Given the description of an element on the screen output the (x, y) to click on. 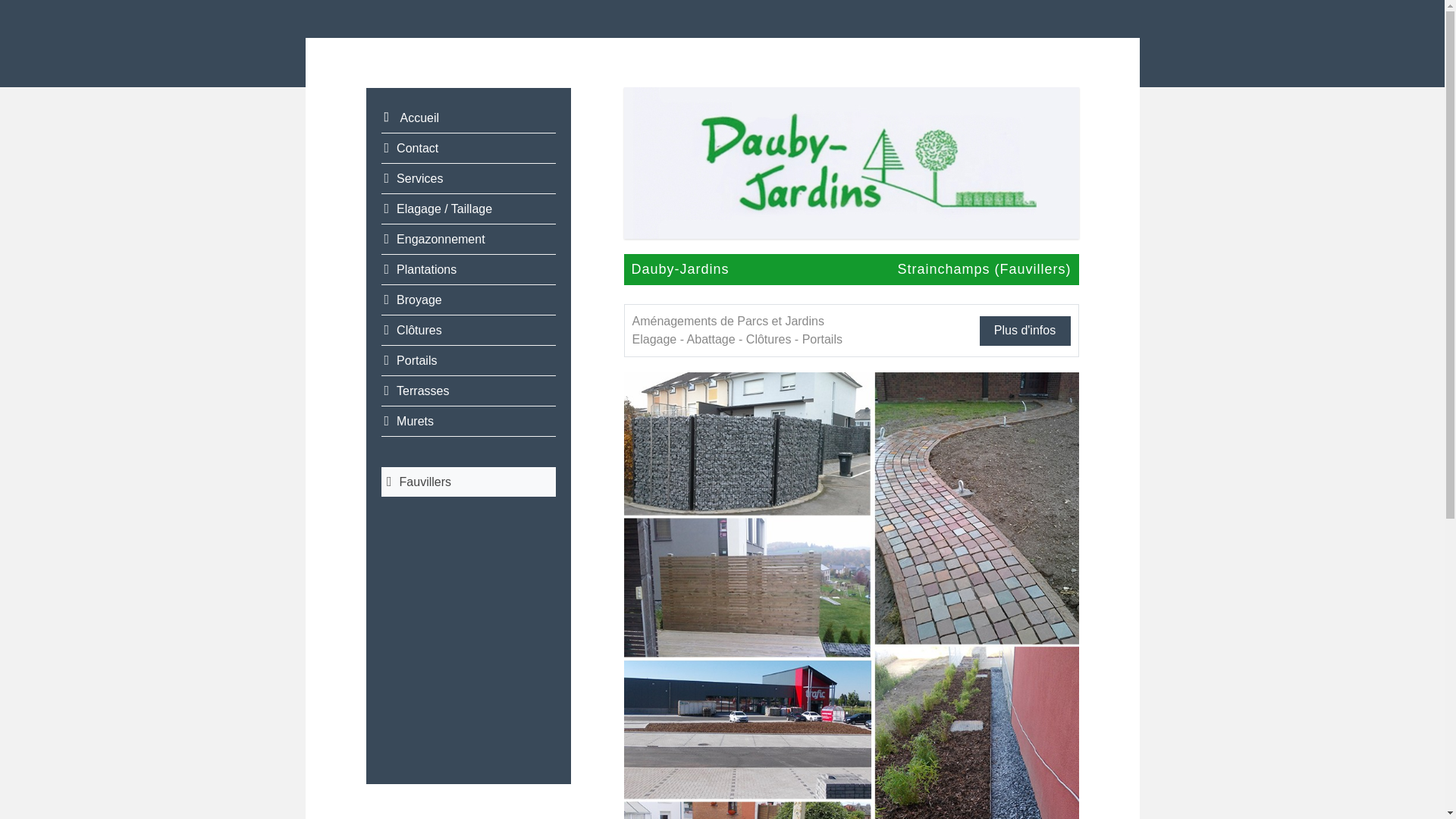
Broyage Element type: text (467, 300)
Services Element type: text (467, 178)
Murets Element type: text (467, 421)
Engazonnement Element type: text (467, 239)
Elagage / Taillage Element type: text (467, 209)
Plantations Element type: text (467, 269)
Plus d'infos Element type: text (1024, 330)
Portails Element type: text (467, 360)
Fauvillers Element type: text (467, 481)
Terrasses Element type: text (467, 391)
Accueil Dauby-Jardins Element type: hover (850, 161)
Contact Element type: text (467, 148)
Accueil Element type: text (467, 118)
